Given the description of an element on the screen output the (x, y) to click on. 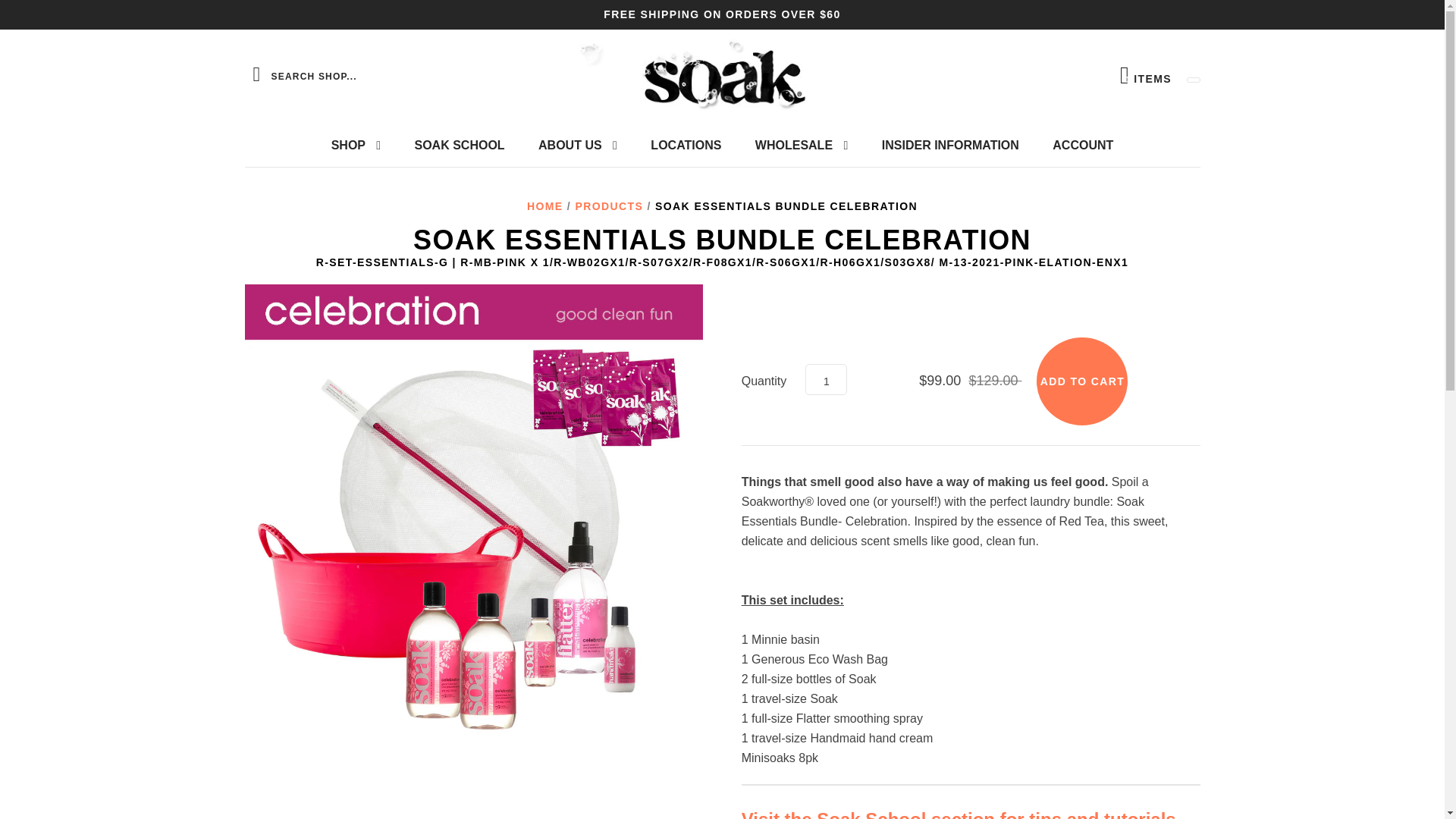
ABOUT US (1145, 75)
Add to cart (576, 145)
Soak School (1081, 381)
WHOLESALE (958, 813)
LOCATIONS (801, 145)
1 (685, 145)
SOAK SCHOOL (826, 378)
SHOP (458, 145)
